Given the description of an element on the screen output the (x, y) to click on. 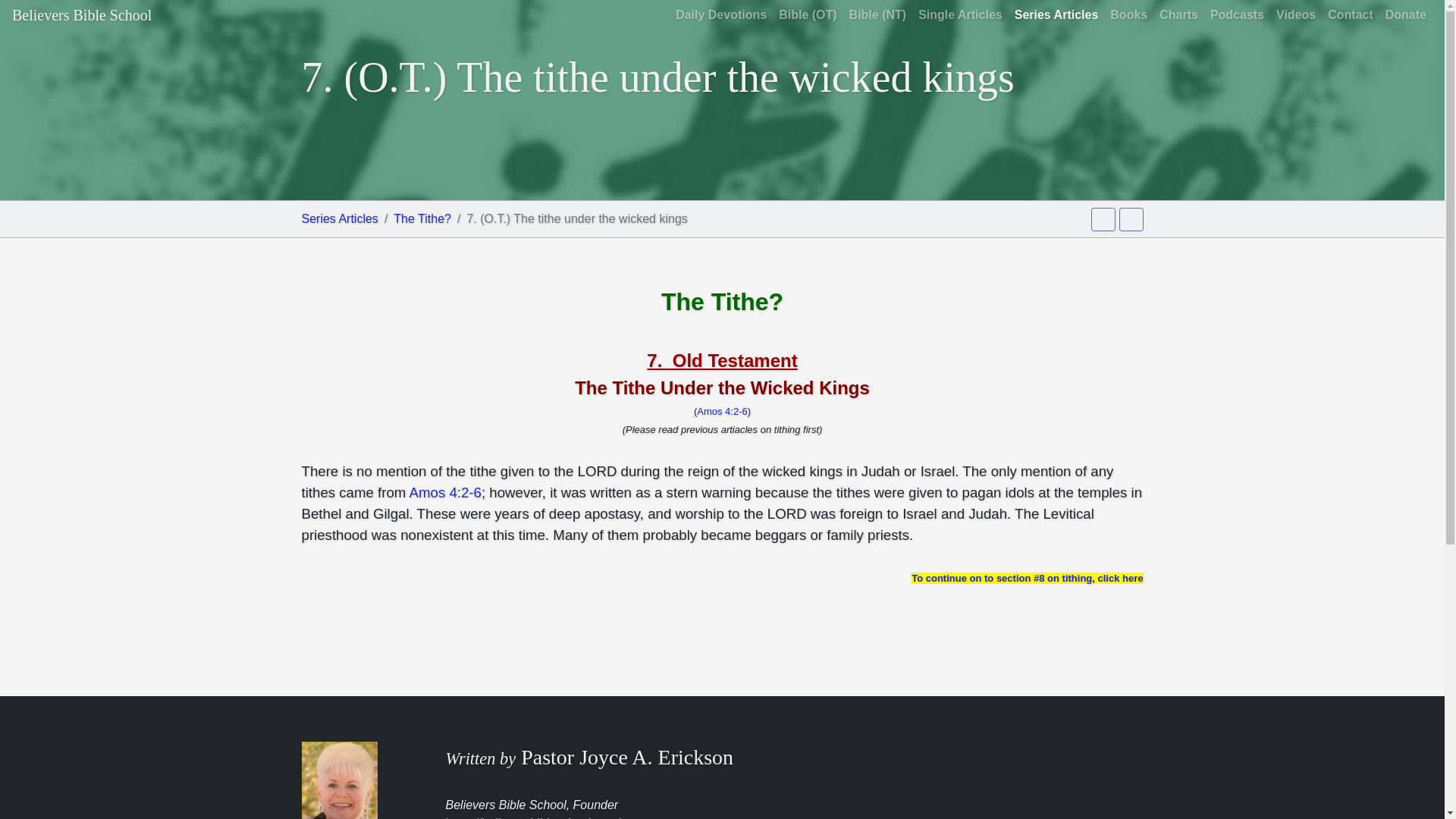
Contact (1350, 15)
Podcasts (1236, 15)
The Tithe? (422, 218)
Daily Devotions (721, 15)
Donate (1405, 15)
Amos 4:2-6 (721, 410)
Series Articles (1057, 15)
Charts (1178, 15)
Videos (1295, 15)
Single Articles (960, 15)
Series Articles (339, 218)
Books (1128, 15)
Amos 4:2-6 (445, 492)
Believers Bible School (81, 15)
